Given the description of an element on the screen output the (x, y) to click on. 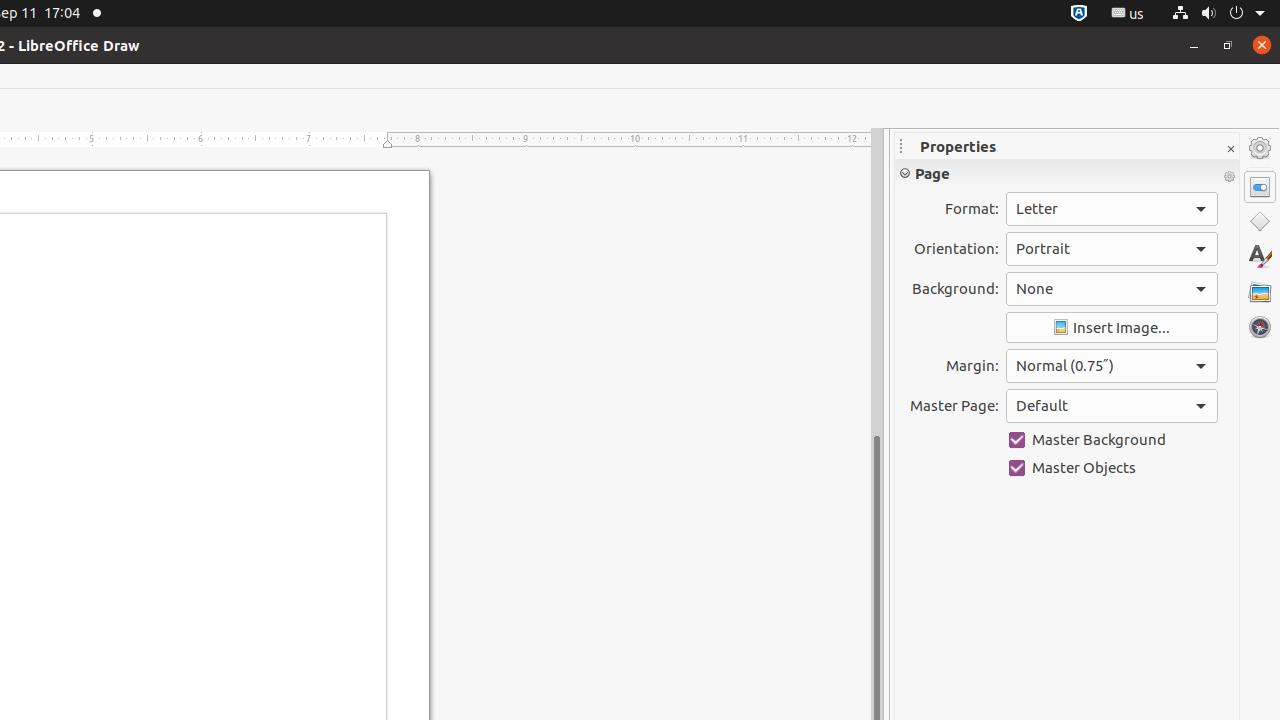
Slide Element type: panel (1067, 338)
Gallery Element type: radio-button (1260, 292)
More Options Element type: push-button (1229, 177)
Shapes Element type: radio-button (1260, 222)
Properties Element type: panel (1067, 146)
